Given the description of an element on the screen output the (x, y) to click on. 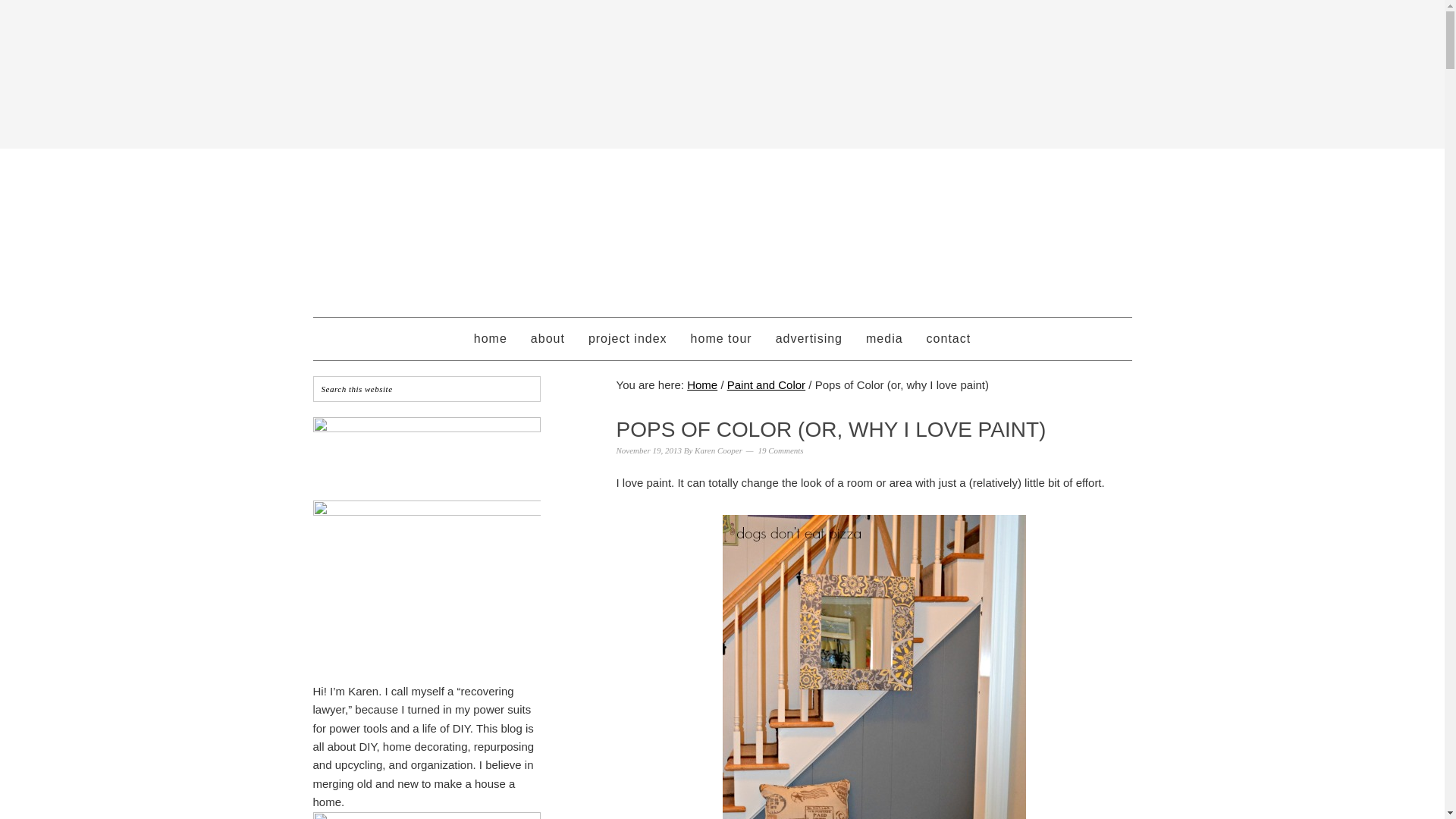
home (490, 338)
about (547, 338)
19 Comments (780, 450)
DOGS DON'T EAT PIZZA (722, 225)
project index (627, 338)
media (884, 338)
Home (702, 384)
advertising (808, 338)
